Given the description of an element on the screen output the (x, y) to click on. 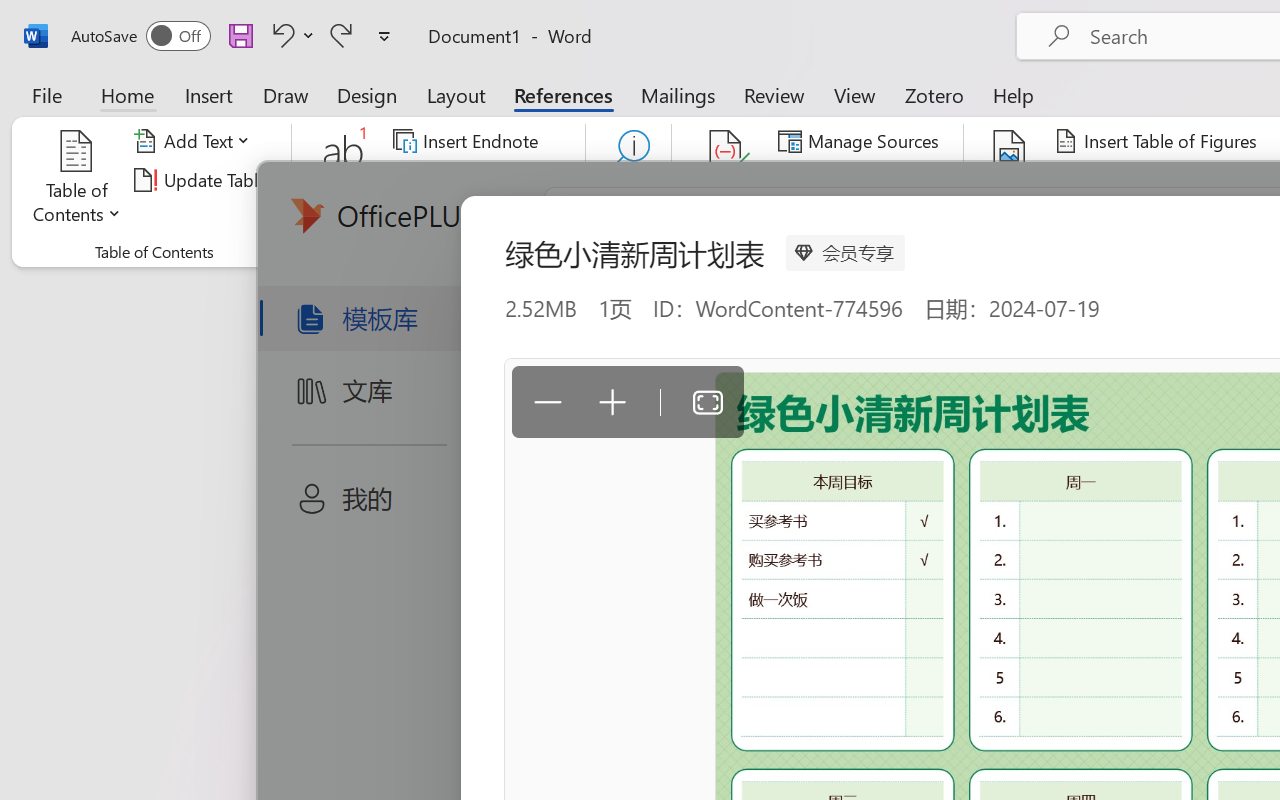
Insert Table of Figures... (1158, 141)
Footnote and Endnote Dialog... (573, 252)
Style (892, 179)
Undo Apply Quick Style Set (290, 35)
Manage Sources... (861, 141)
Update Table (1124, 179)
Table of Contents (77, 179)
